Given the description of an element on the screen output the (x, y) to click on. 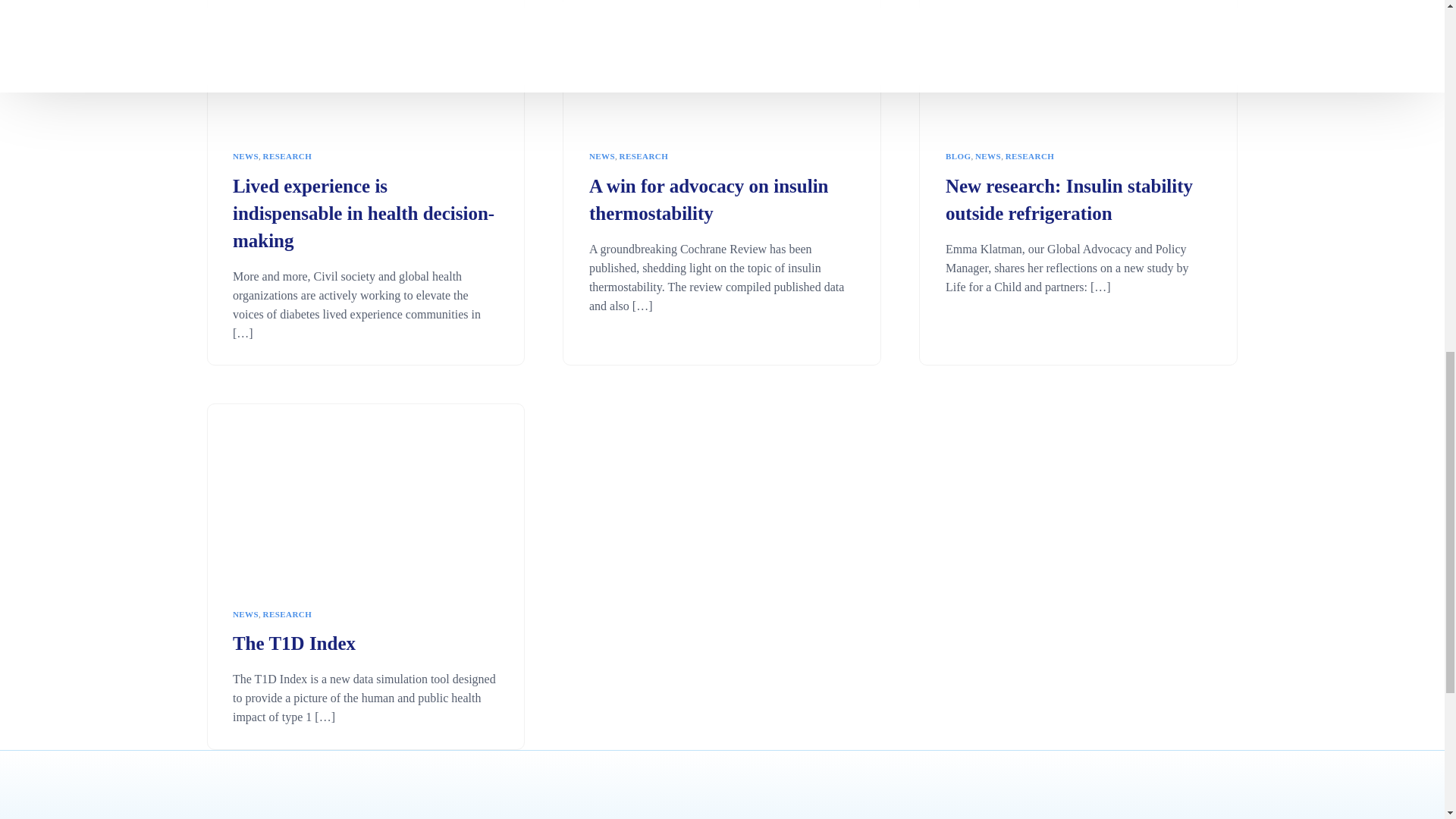
View Research posts (288, 156)
View News posts (245, 156)
